Given the description of an element on the screen output the (x, y) to click on. 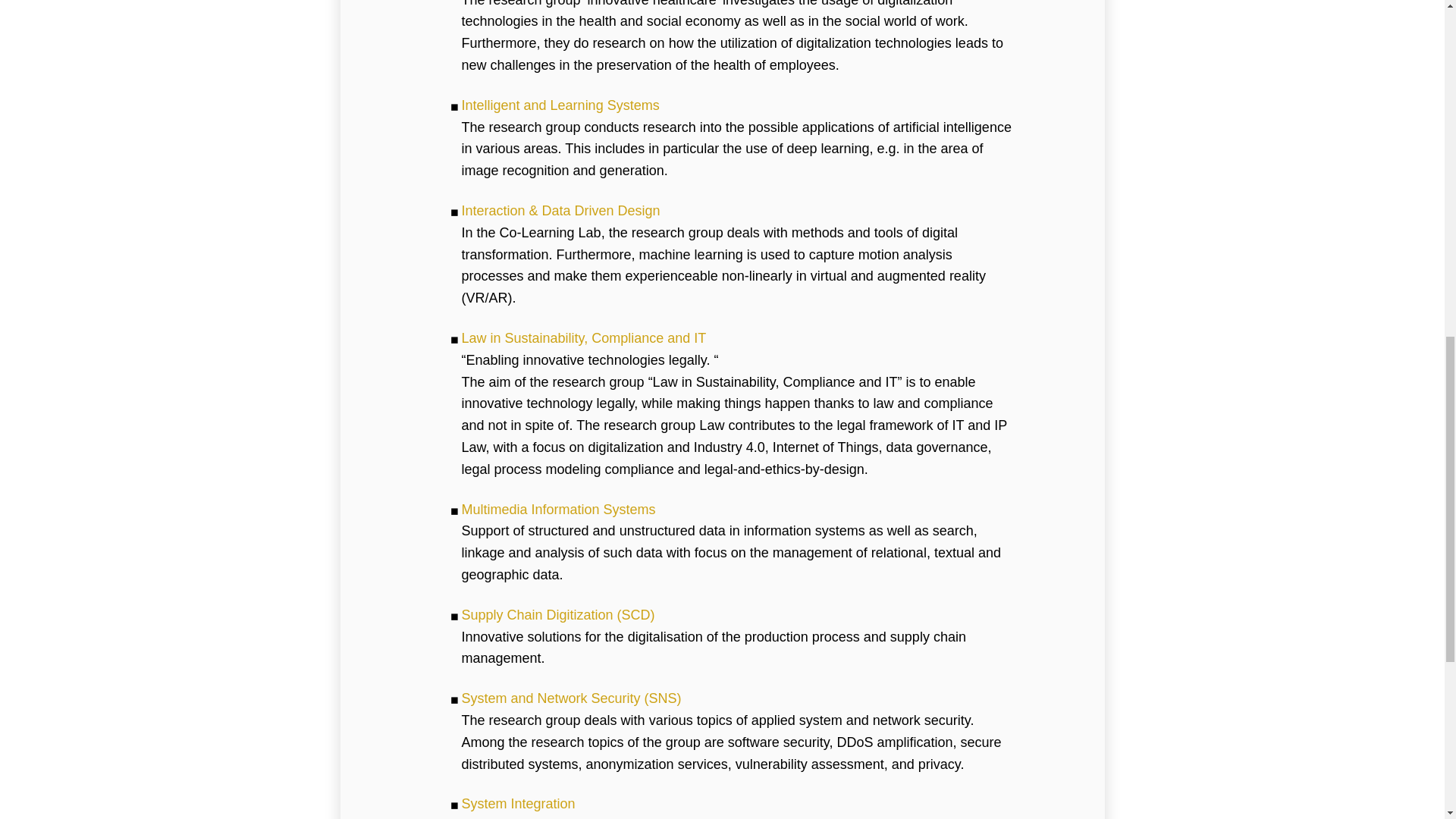
System Integration (518, 803)
Law in Sustainability, Compliance and IT (583, 337)
Intelligent and Learning Systems (560, 105)
Multimedia Information Systems (558, 509)
